Given the description of an element on the screen output the (x, y) to click on. 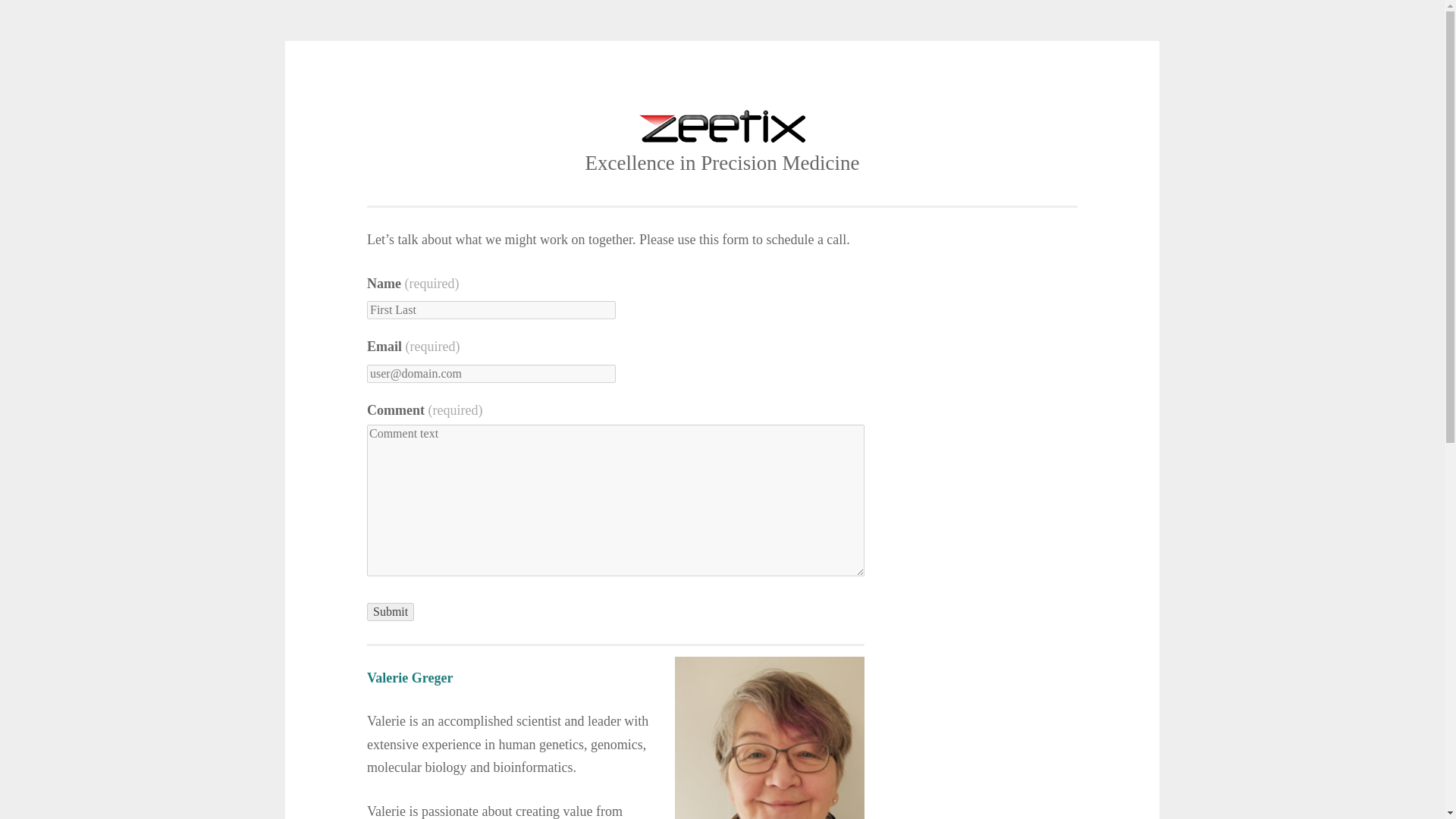
Valerie Greger (409, 677)
Submit (389, 611)
Excellence in Precision Medicine (722, 162)
